Given the description of an element on the screen output the (x, y) to click on. 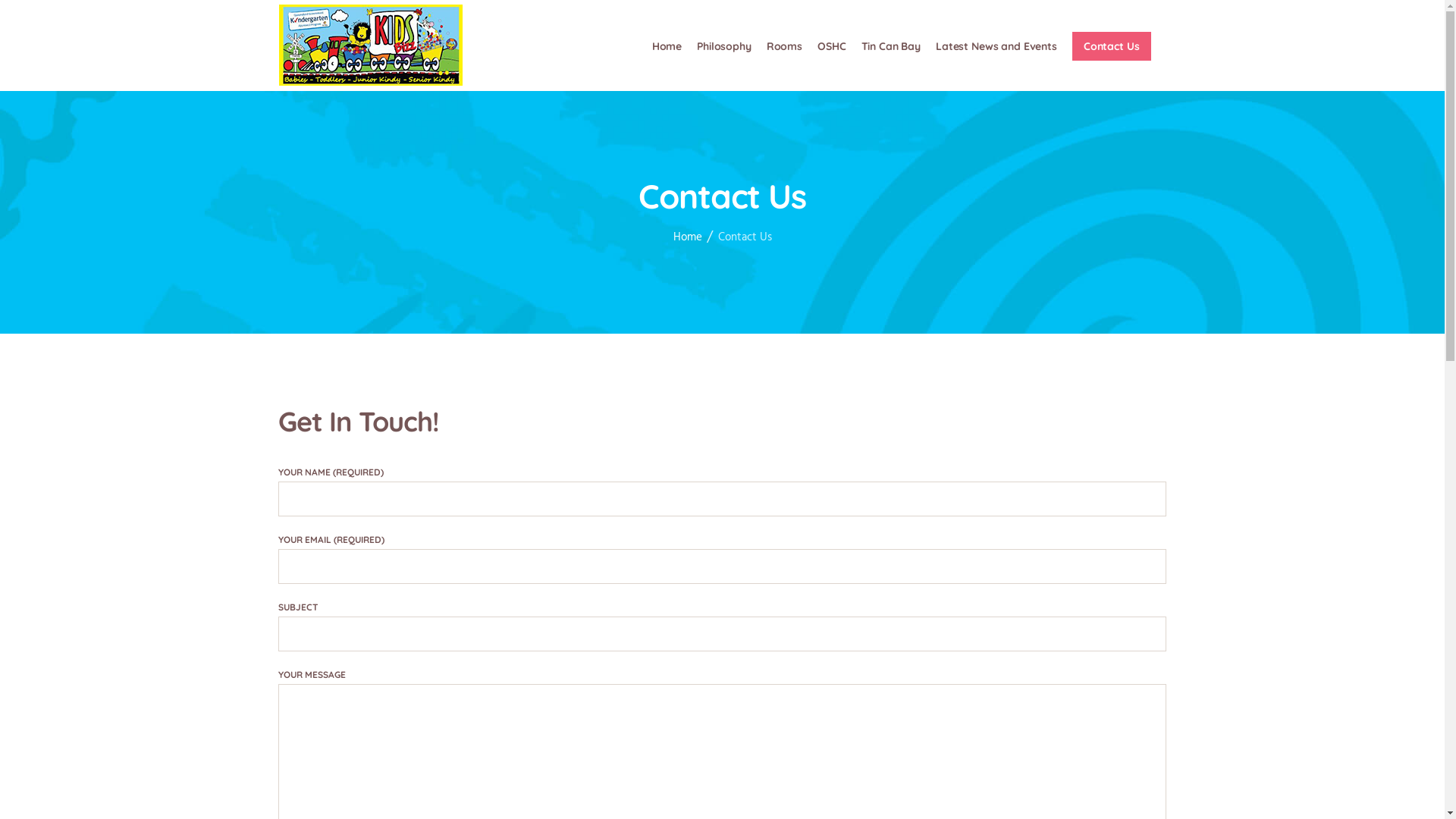
OSHC Element type: text (831, 45)
Rooms Element type: text (784, 45)
Tin Can Bay Element type: text (890, 45)
Latest News and Events Element type: text (996, 45)
Home Element type: text (687, 238)
Home Element type: text (666, 45)
Contact Us Element type: text (1111, 45)
Philosophy Element type: text (724, 45)
